Given the description of an element on the screen output the (x, y) to click on. 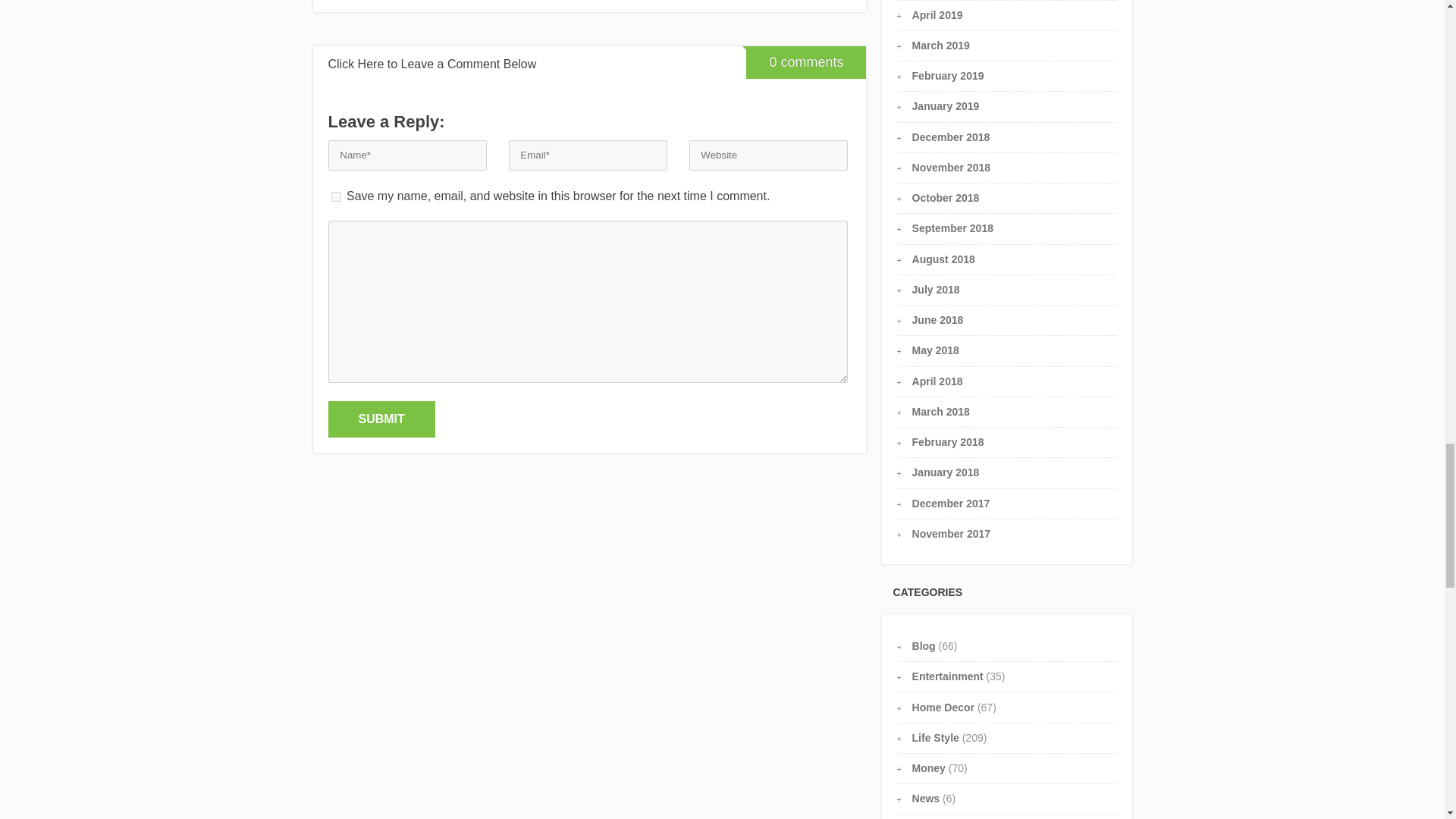
yes (335, 196)
SUBMIT (380, 419)
SUBMIT (380, 419)
